Given the description of an element on the screen output the (x, y) to click on. 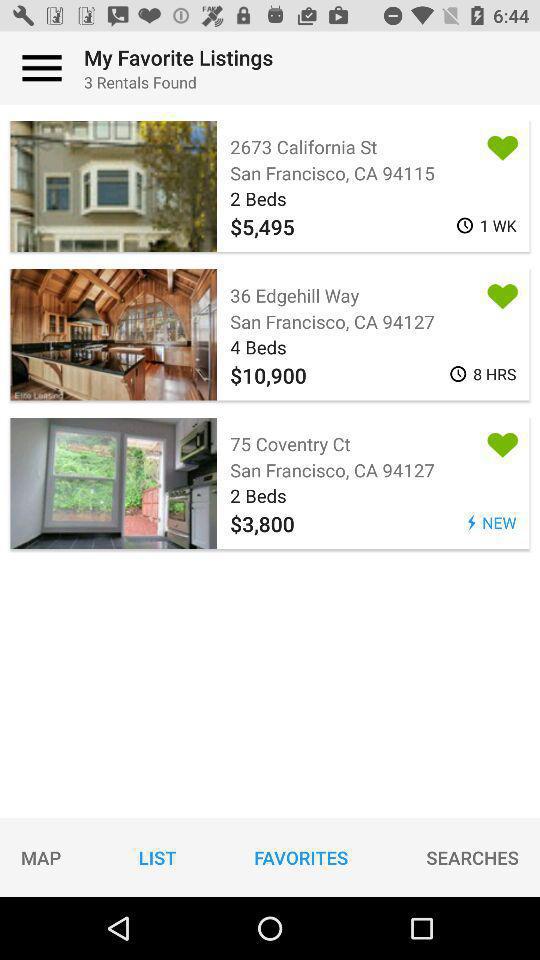
open menu (41, 68)
